Given the description of an element on the screen output the (x, y) to click on. 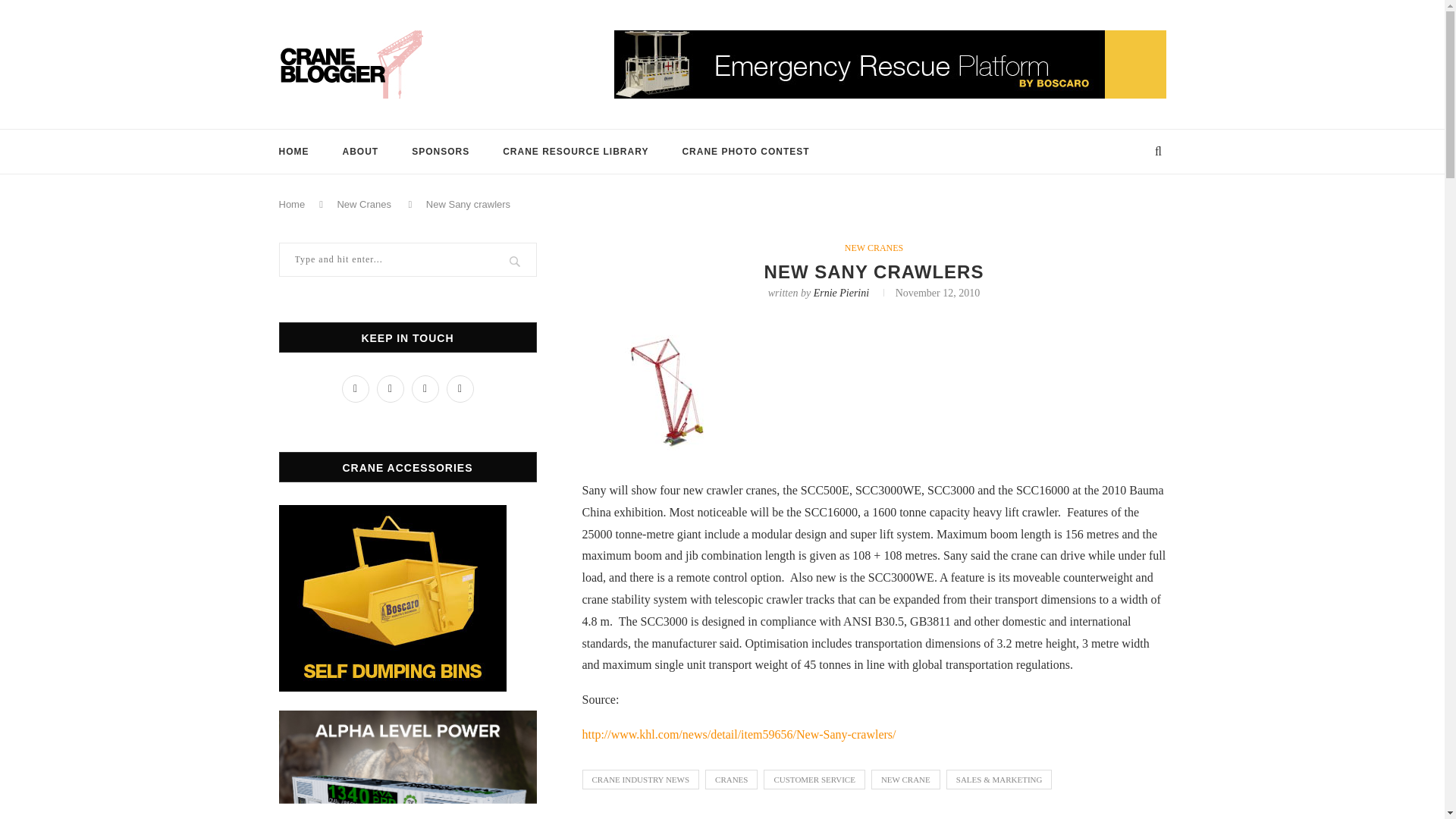
59652 (673, 387)
CRANE RESOURCE LIBRARY (574, 151)
CRANE PHOTO CONTEST (745, 151)
View all posts in New Cranes (873, 247)
SPONSORS (440, 151)
